Given the description of an element on the screen output the (x, y) to click on. 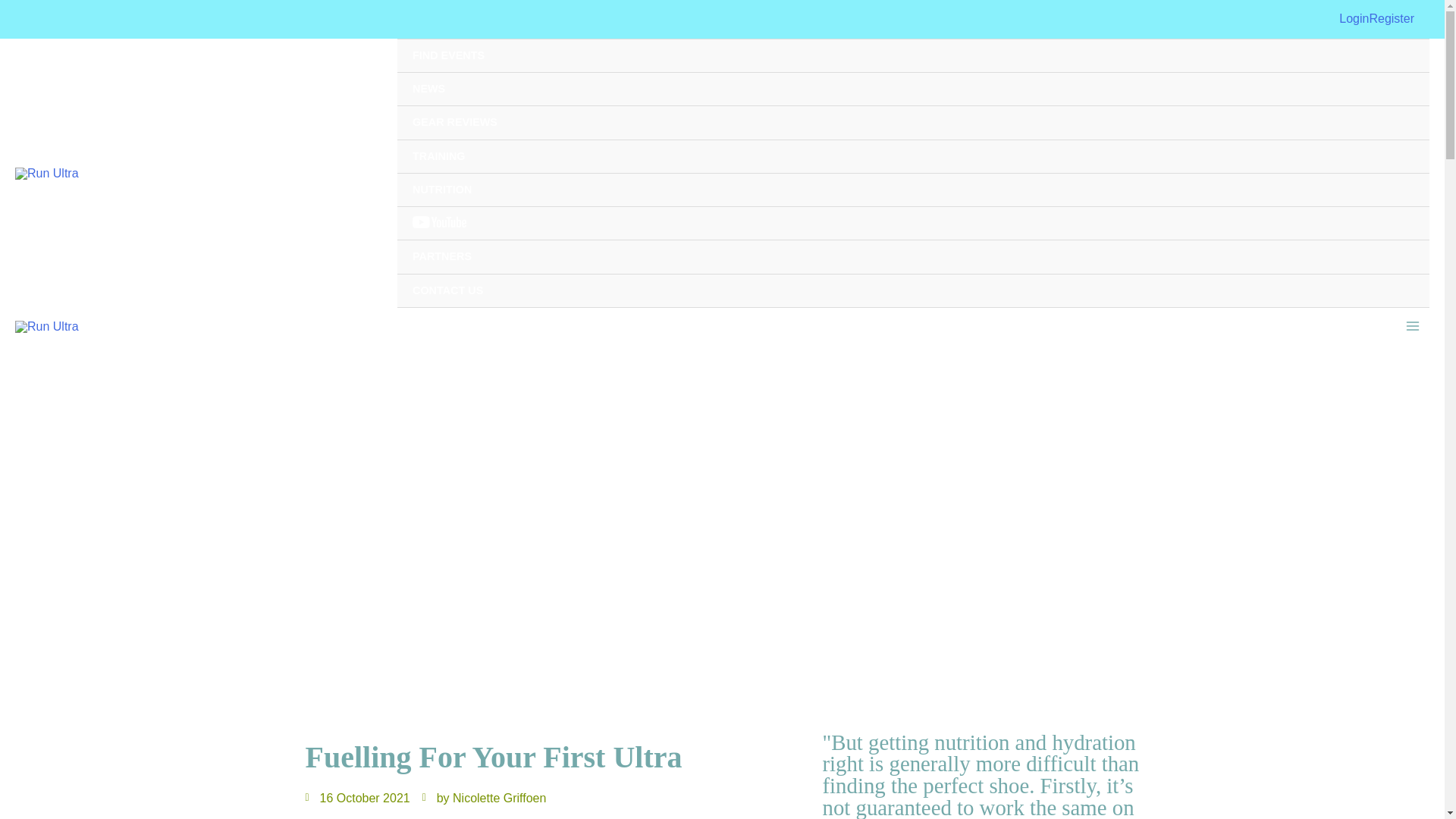
CONTACT US (913, 290)
NEWS (913, 89)
TRAINING (913, 156)
PARTNERS (913, 256)
MAIN MENU (1412, 326)
Login (1353, 19)
Register (1390, 19)
NUTRITION (913, 190)
FIND EVENTS (913, 55)
GEAR REVIEWS (913, 122)
